Given the description of an element on the screen output the (x, y) to click on. 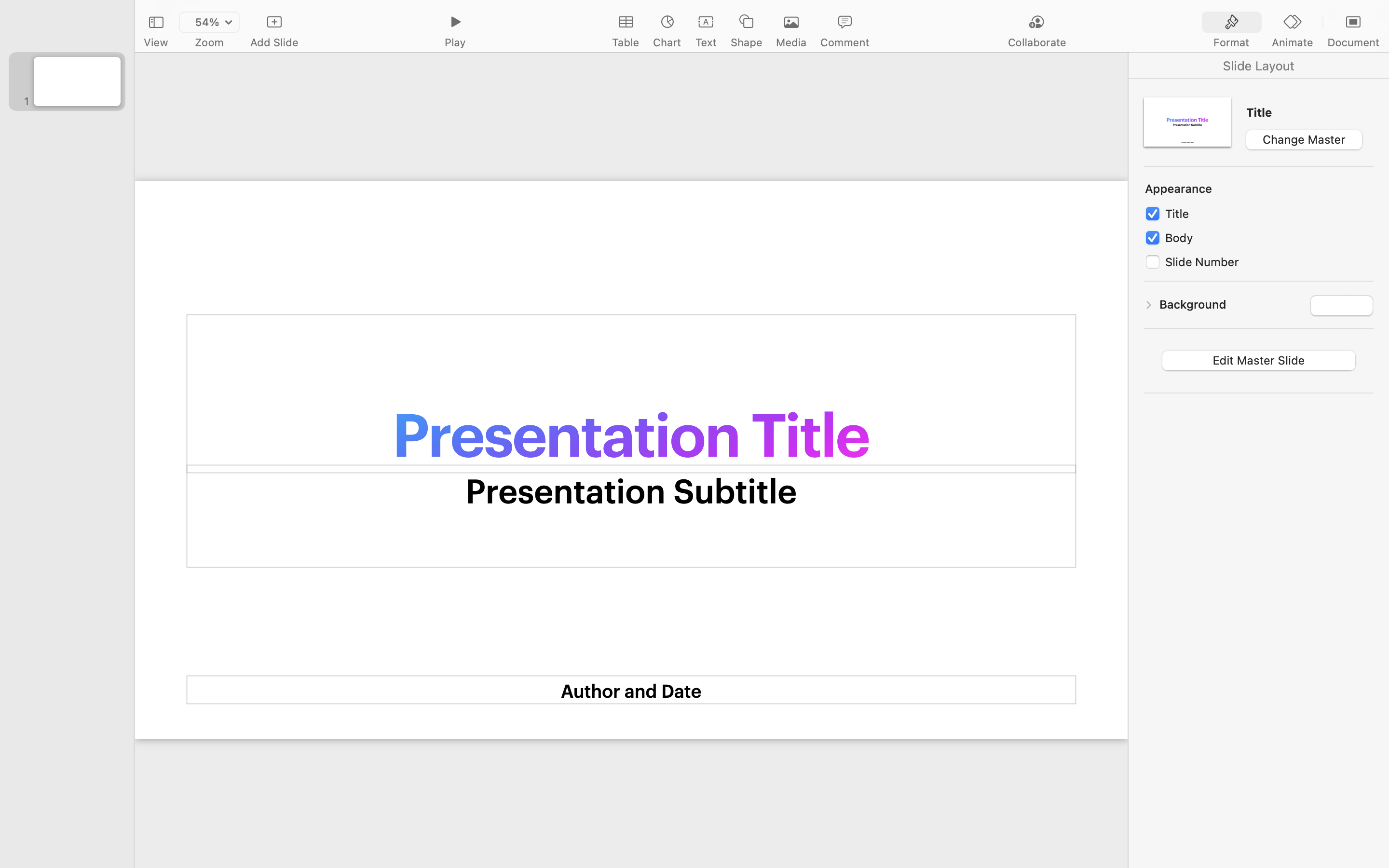
Document Element type: AXStaticText (1352, 42)
Background Element type: AXStaticText (1192, 304)
Format Element type: AXStaticText (1230, 42)
